Given the description of an element on the screen output the (x, y) to click on. 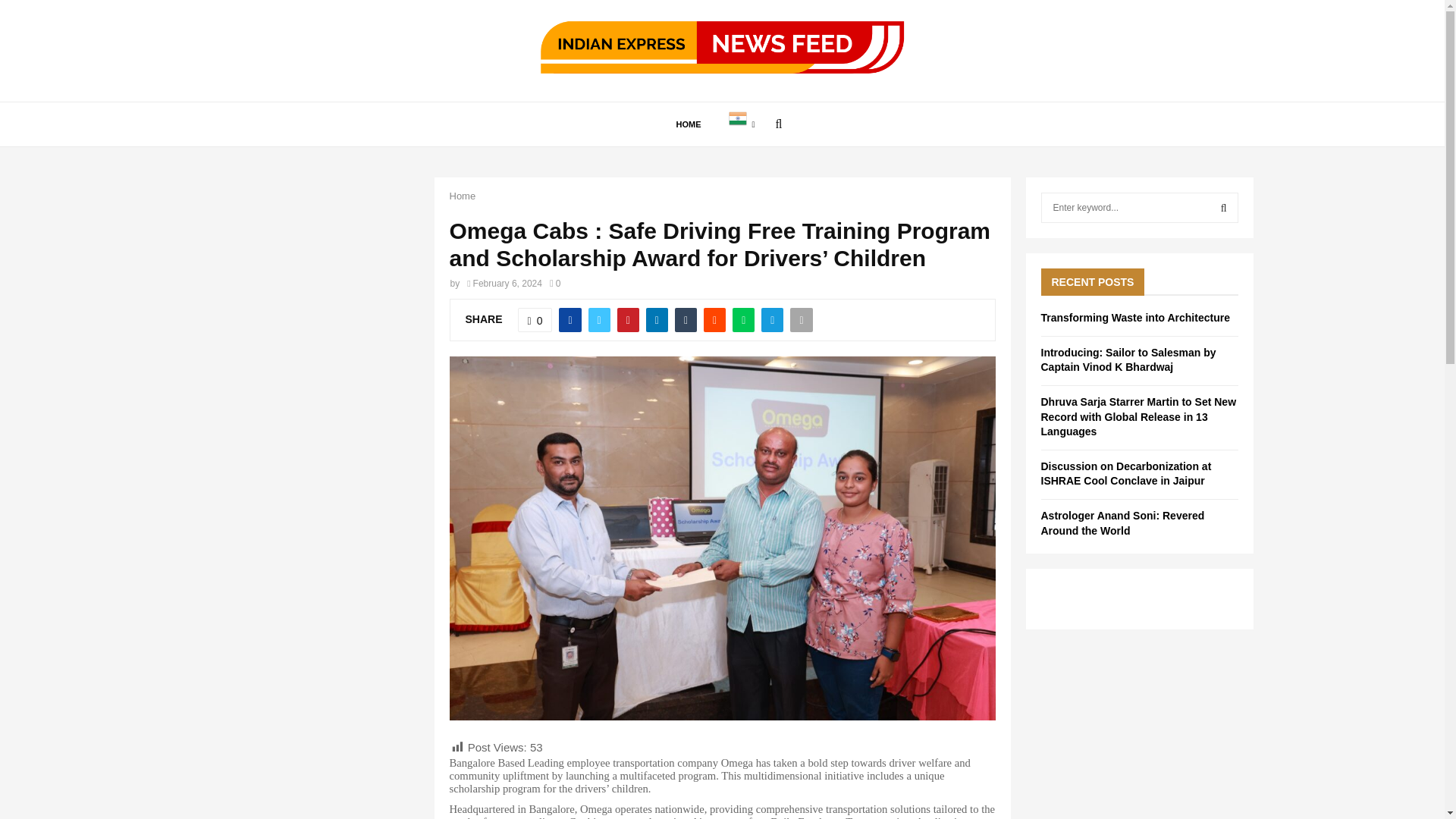
SEARCH (1224, 207)
0 (555, 283)
0 (535, 319)
Like (535, 319)
Transforming Waste into Architecture (1134, 317)
Home (462, 195)
HOME (688, 124)
